Given the description of an element on the screen output the (x, y) to click on. 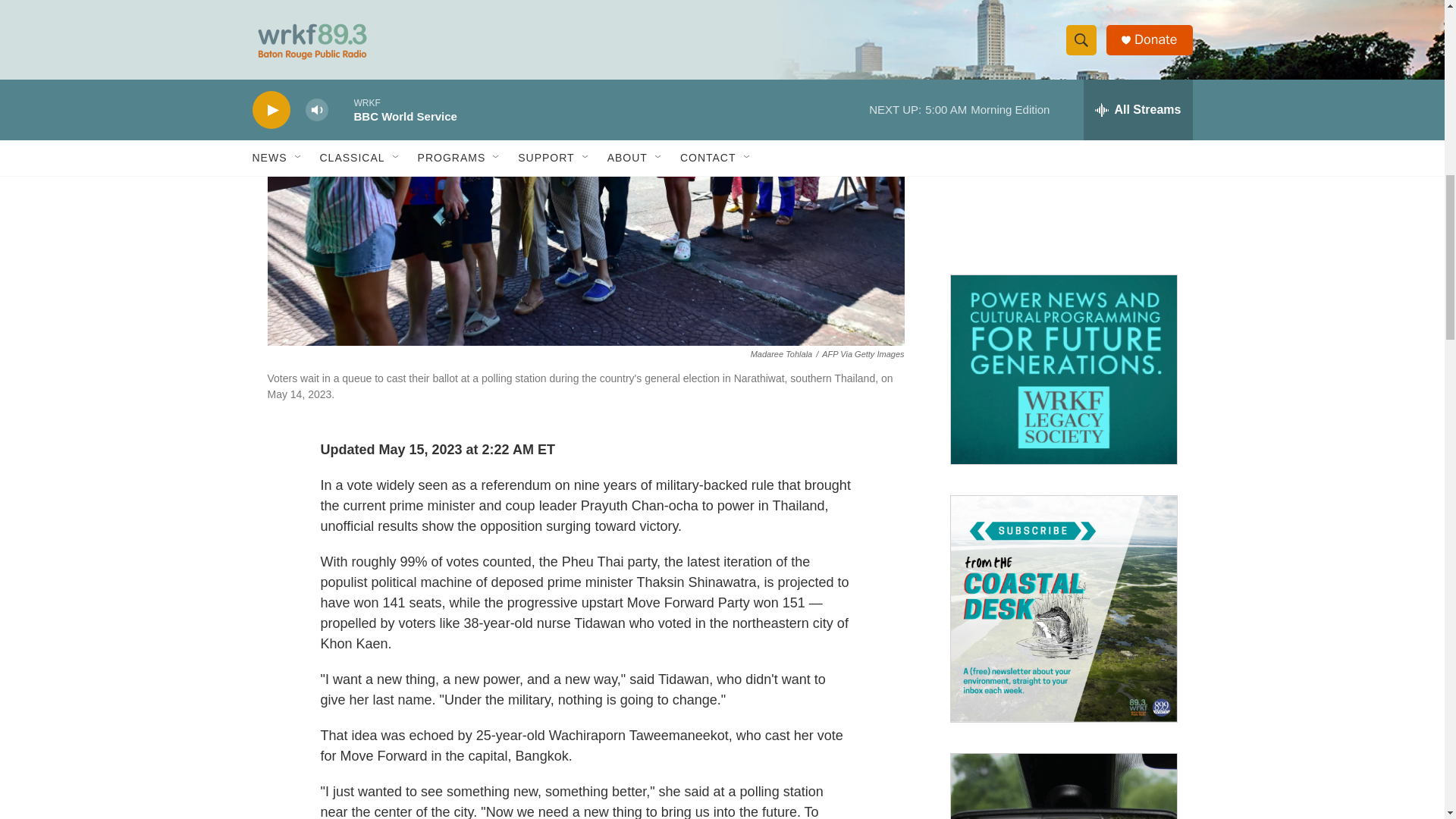
3rd party ad content (1062, 149)
